Given the description of an element on the screen output the (x, y) to click on. 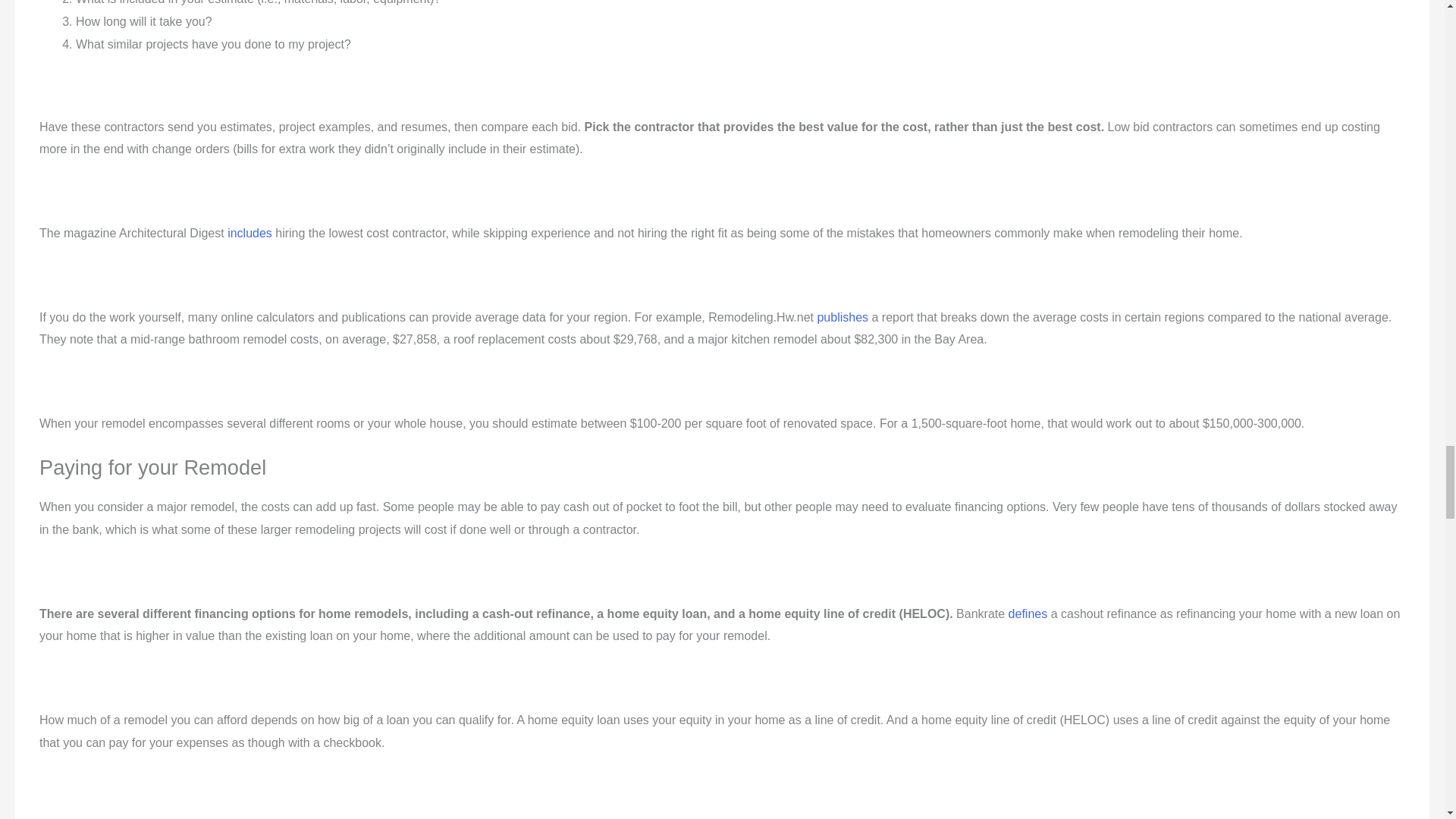
publishes (841, 317)
defines (1028, 613)
includes (249, 232)
